Given the description of an element on the screen output the (x, y) to click on. 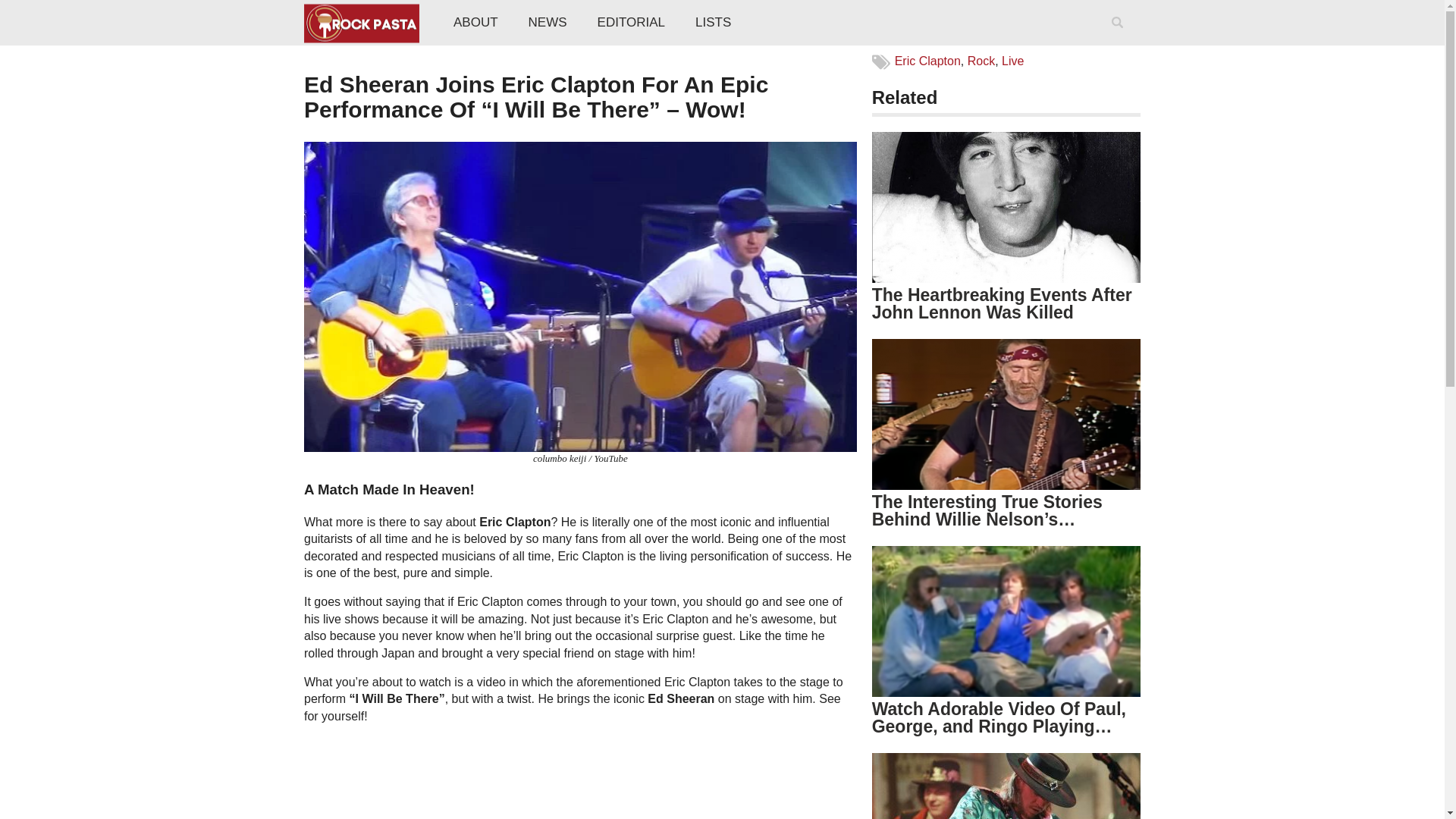
LISTS (712, 22)
The Heartbreaking Events After John Lennon Was Killed (1002, 303)
Eric Clapton with Ed Sheeran - I Will Be There (493, 778)
Search (1120, 42)
EDITORIAL (630, 22)
Search (1120, 42)
ABOUT (475, 22)
Eric Clapton (927, 60)
Rock (981, 60)
Search (1120, 42)
Live (1012, 60)
NEWS (547, 22)
